Given the description of an element on the screen output the (x, y) to click on. 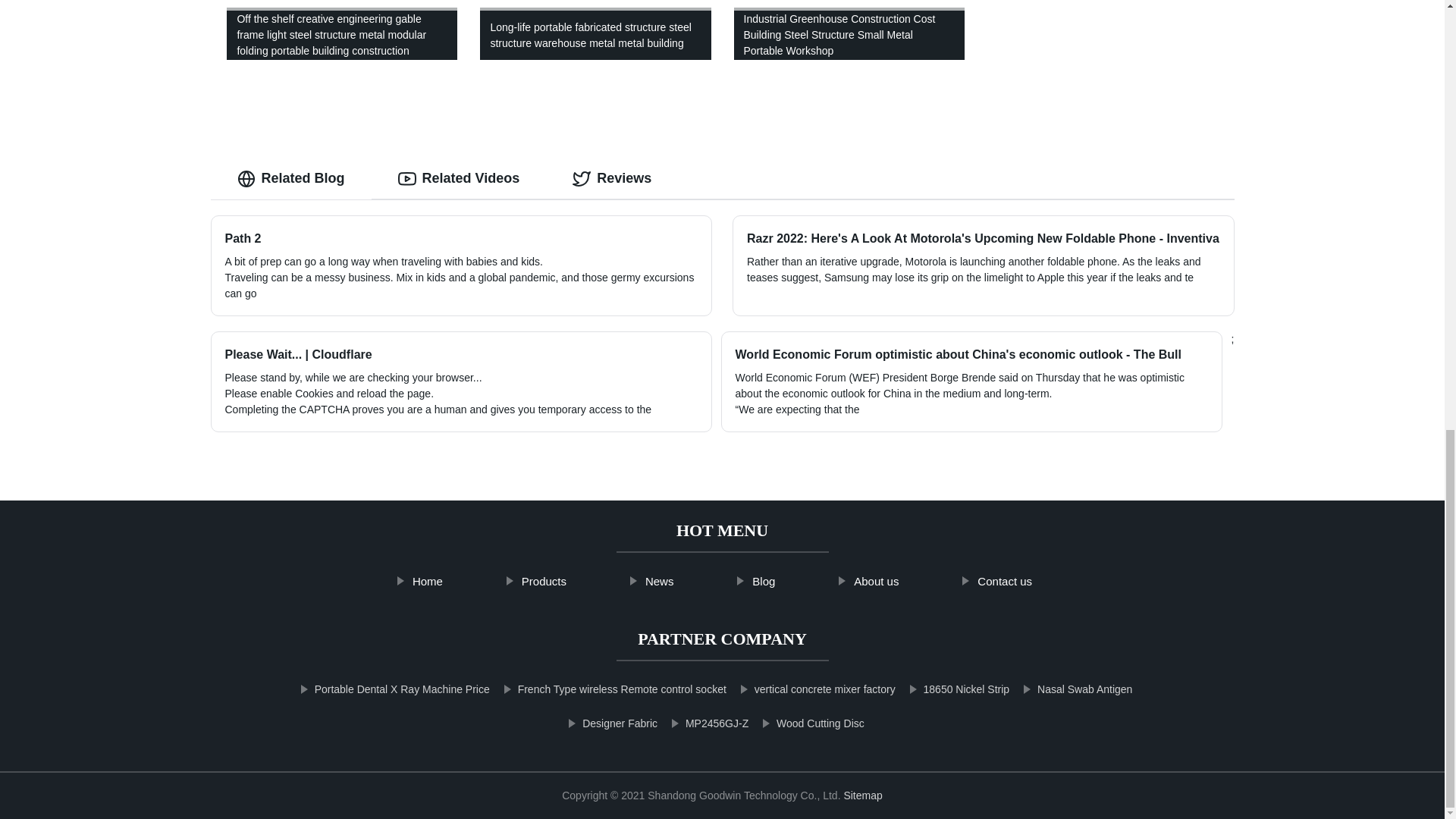
Home (427, 581)
News (659, 581)
Blog (763, 581)
About us (876, 581)
Portable Dental X Ray Machine Price (400, 684)
Contact us (1004, 581)
Products (543, 581)
